Given the description of an element on the screen output the (x, y) to click on. 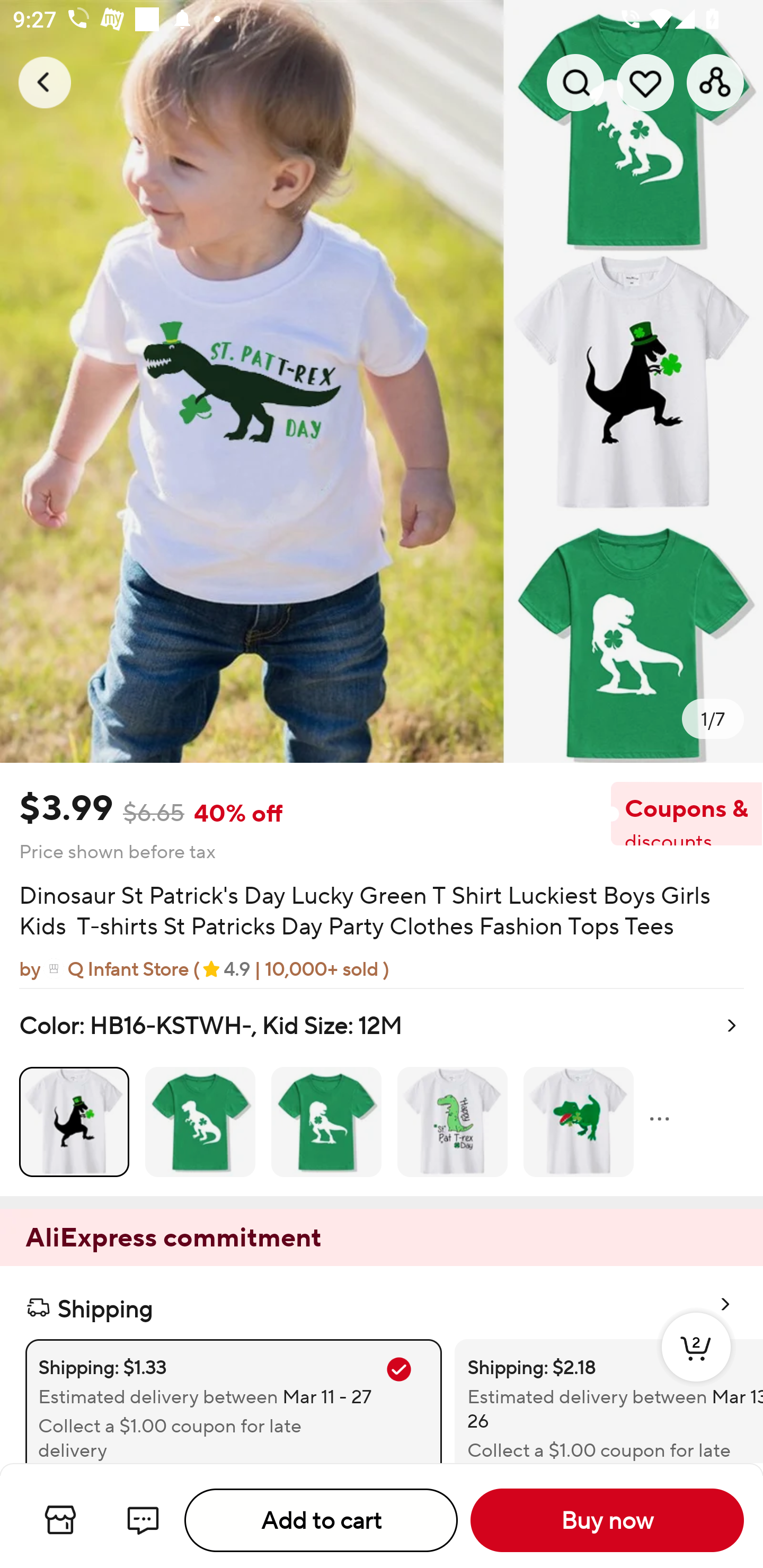
Navigate up (44, 82)
Color: HB16-KSTWH-, Kid Size: 12M  (381, 1092)
2 (695, 1366)
Add to cart (320, 1520)
Buy now (606, 1520)
